Given the description of an element on the screen output the (x, y) to click on. 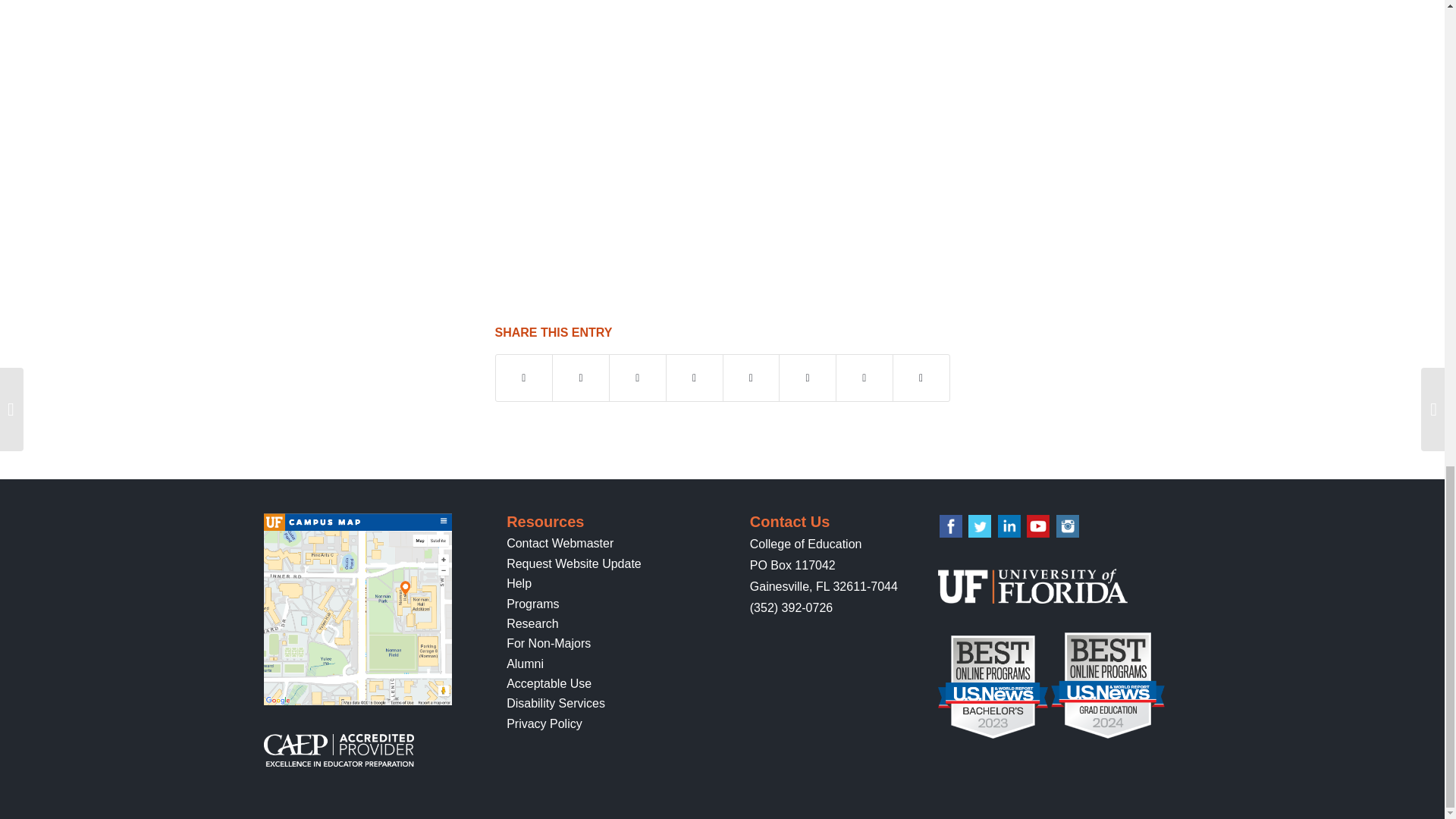
campus map (357, 609)
Facebook (950, 526)
CAEP Accreditation (338, 762)
